Given the description of an element on the screen output the (x, y) to click on. 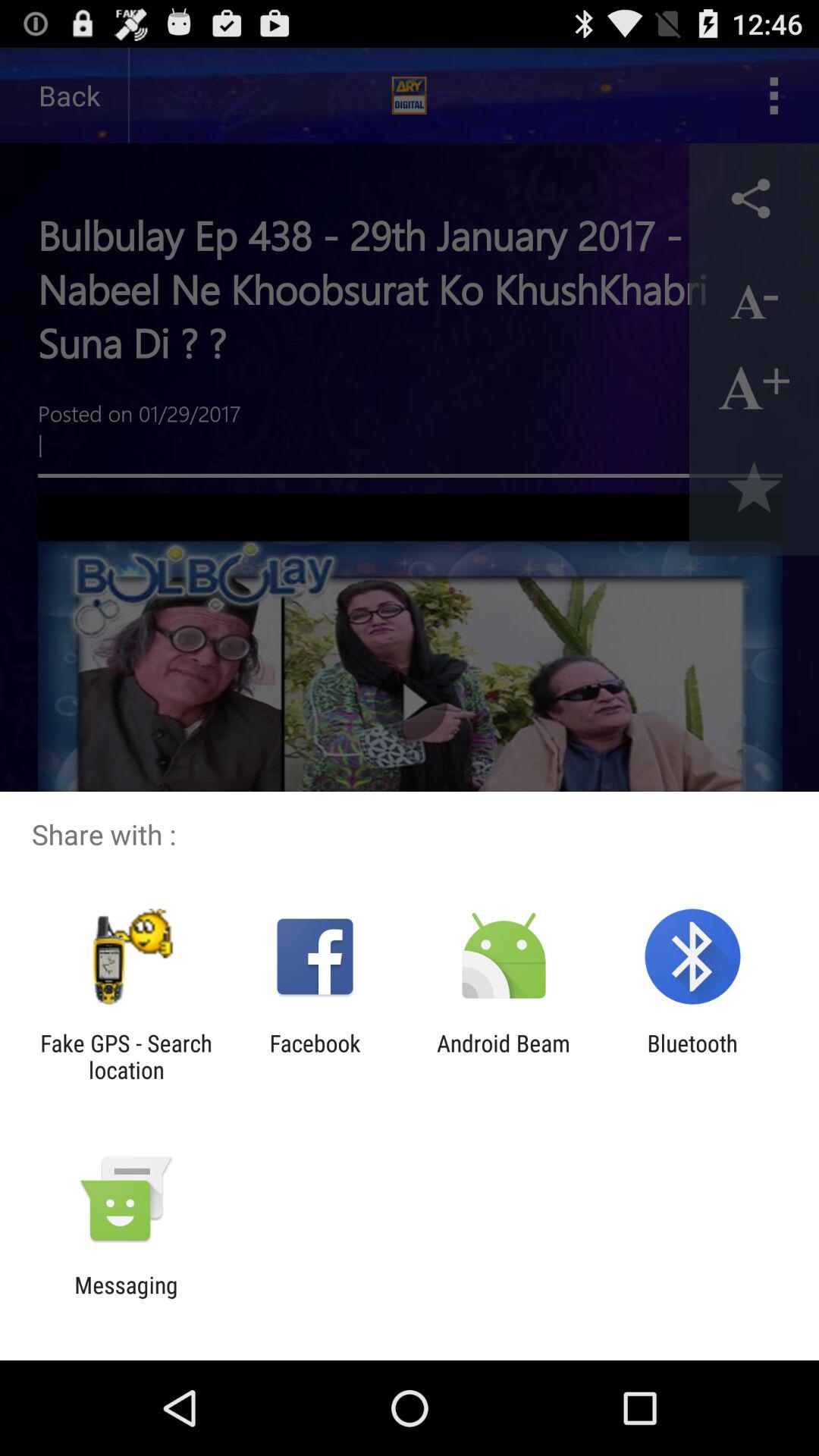
launch the icon next to android beam app (692, 1056)
